Given the description of an element on the screen output the (x, y) to click on. 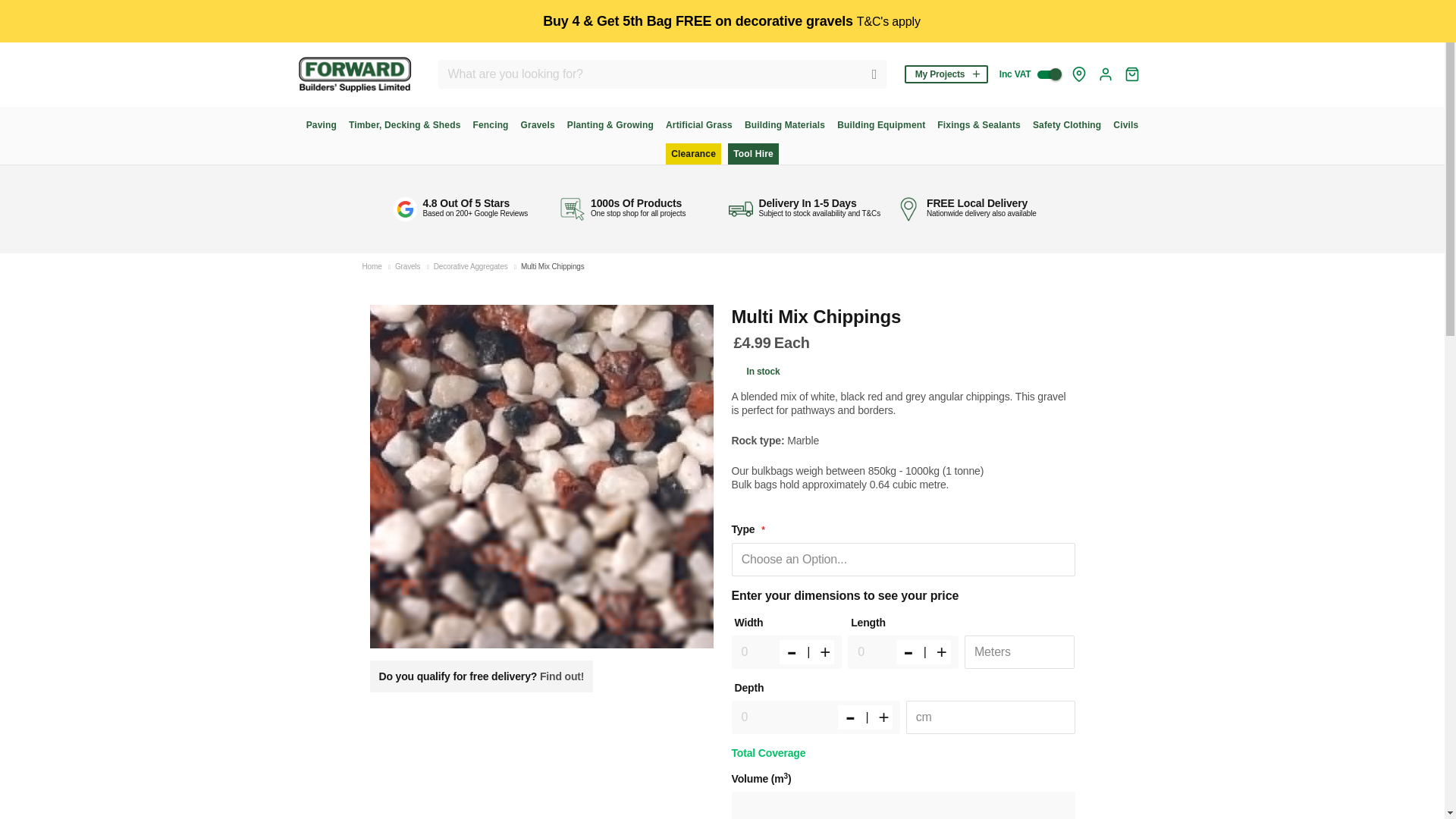
My Cart (1131, 73)
Sign In (1105, 73)
Fencing (489, 125)
Check Delivery Costs (1078, 73)
Availability (755, 371)
Gravels (407, 266)
My Projects (946, 74)
Forward Builders Supplies (353, 74)
Decorative Aggregates (470, 266)
My Projects (946, 74)
Tool Hire (753, 153)
Go to Home Page (371, 266)
My Cart (1131, 73)
Paving (320, 125)
Log Out (1105, 73)
